Given the description of an element on the screen output the (x, y) to click on. 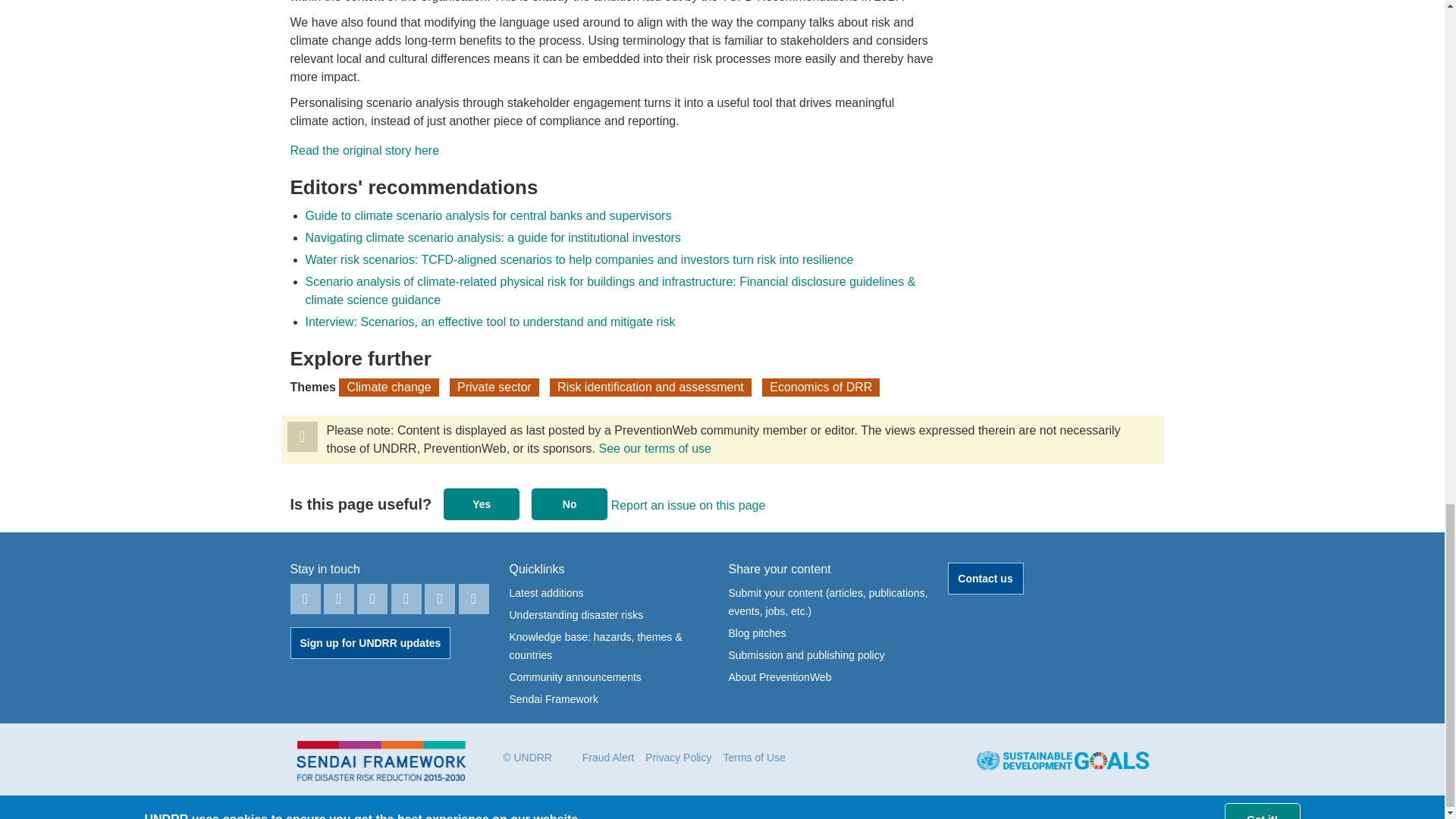
Economics of DRR (820, 387)
Read the original story here (364, 150)
Climate change (388, 387)
Risk identification and assessment (650, 387)
Private sector (493, 387)
